Given the description of an element on the screen output the (x, y) to click on. 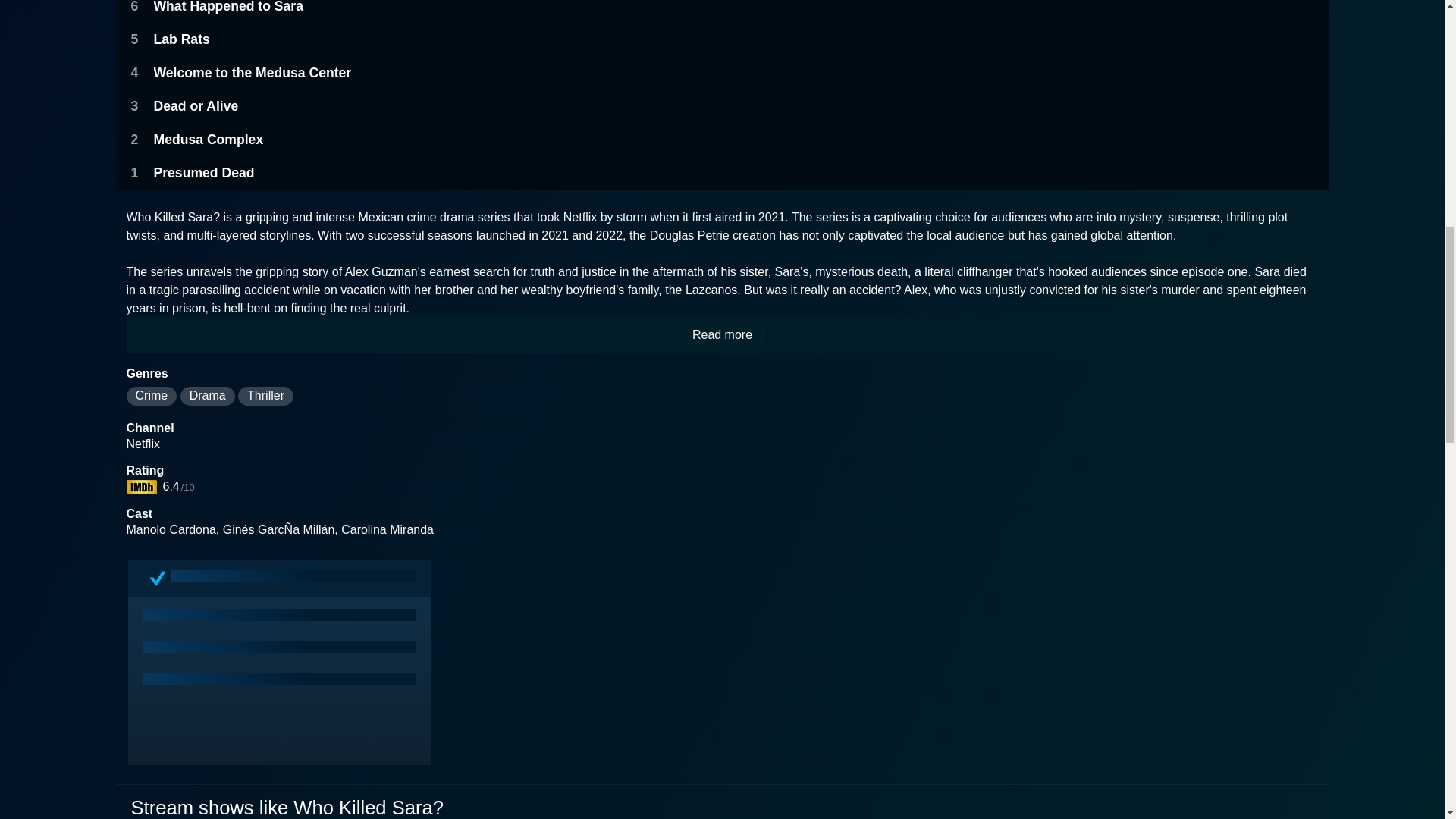
Read more (722, 334)
Thriller (266, 395)
Drama (207, 395)
Crime (150, 395)
